Given the description of an element on the screen output the (x, y) to click on. 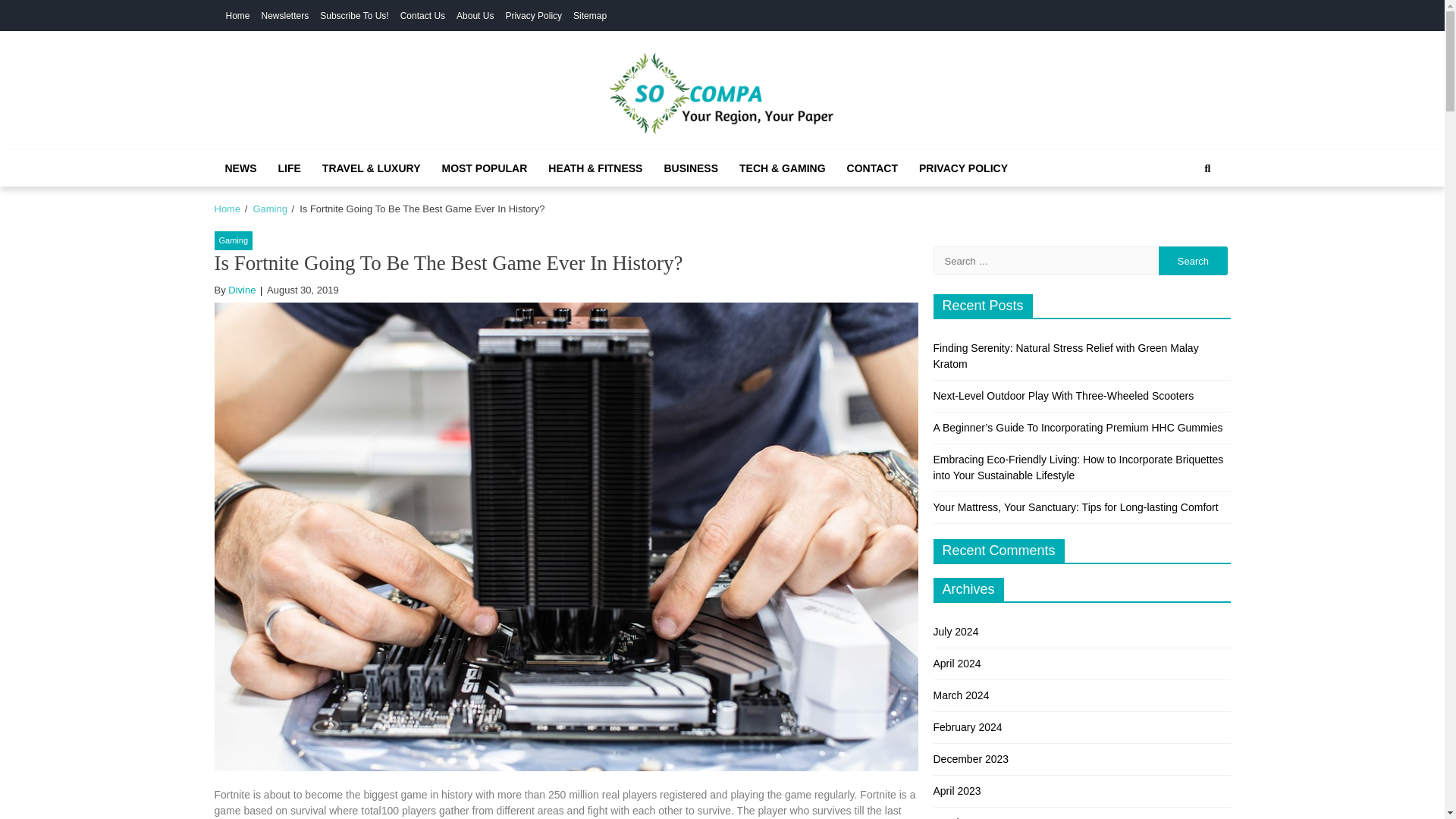
Gaming (268, 208)
July 2024 (955, 631)
Contact Us (422, 15)
Newsletters (285, 15)
Home (227, 208)
Search (1207, 167)
Search (1192, 260)
Search (1192, 260)
NEWS (240, 167)
